Given the description of an element on the screen output the (x, y) to click on. 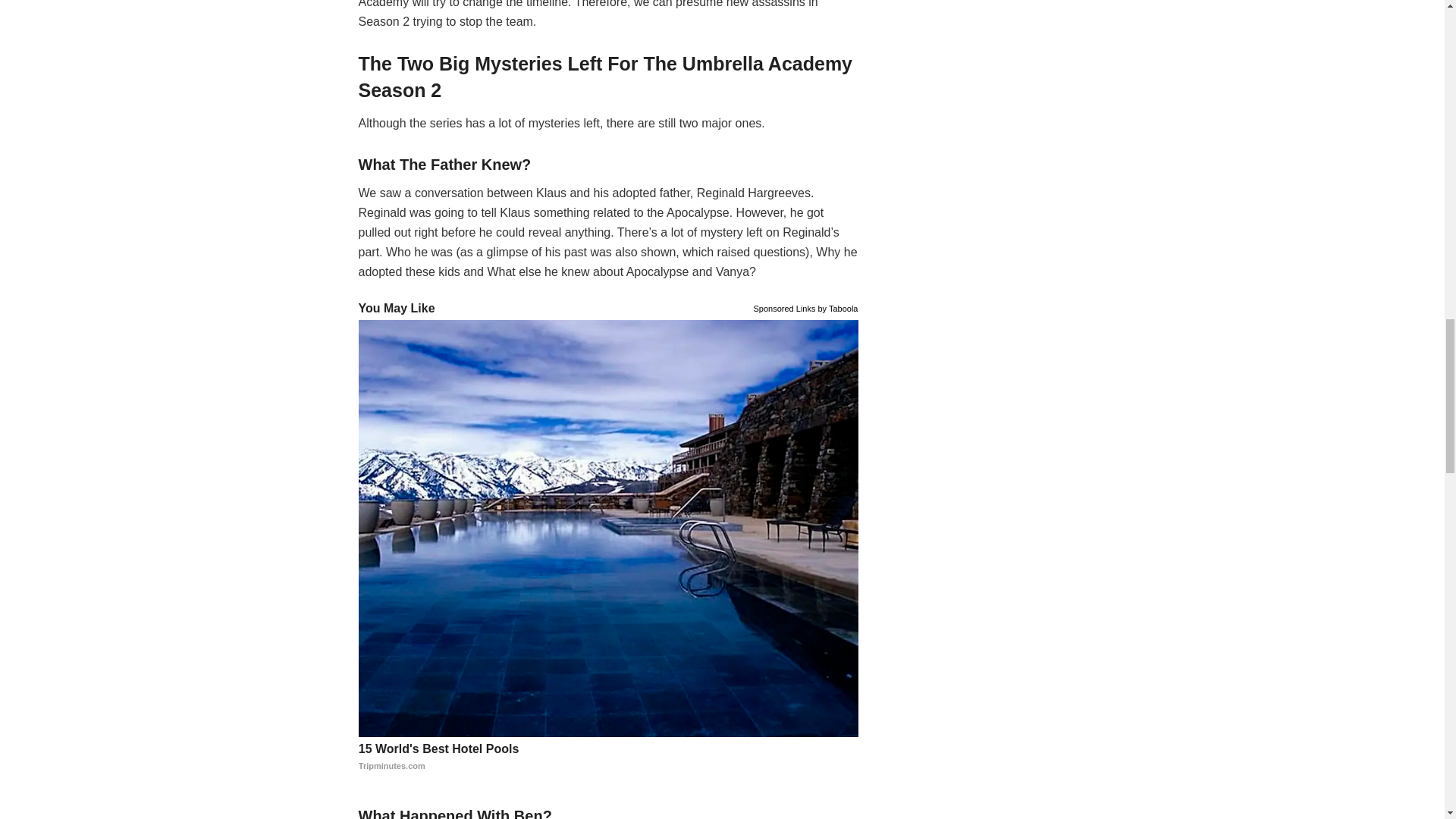
15 World's Best Hotel Pools (608, 757)
